Given the description of an element on the screen output the (x, y) to click on. 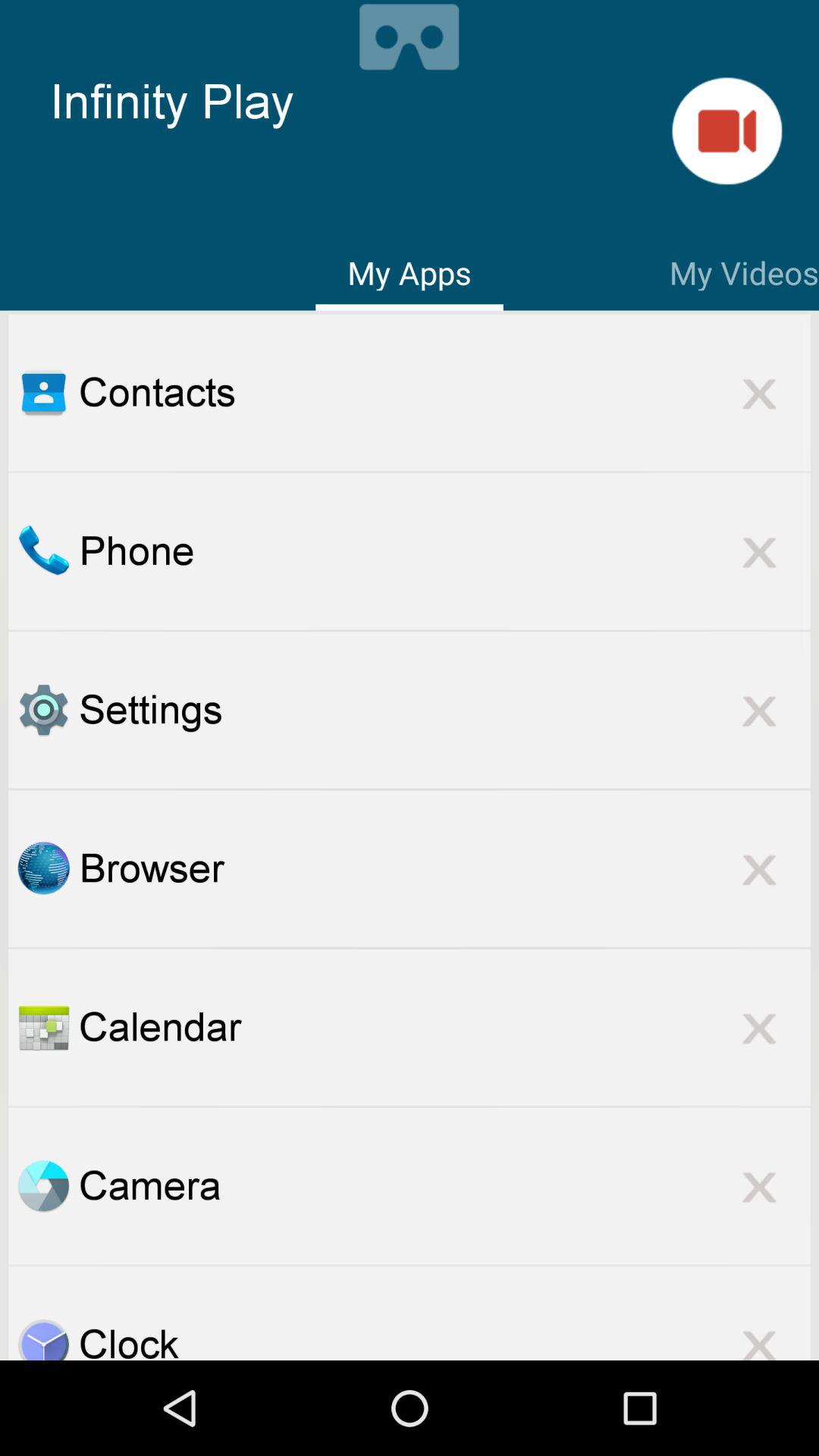
settings (43, 709)
